Given the description of an element on the screen output the (x, y) to click on. 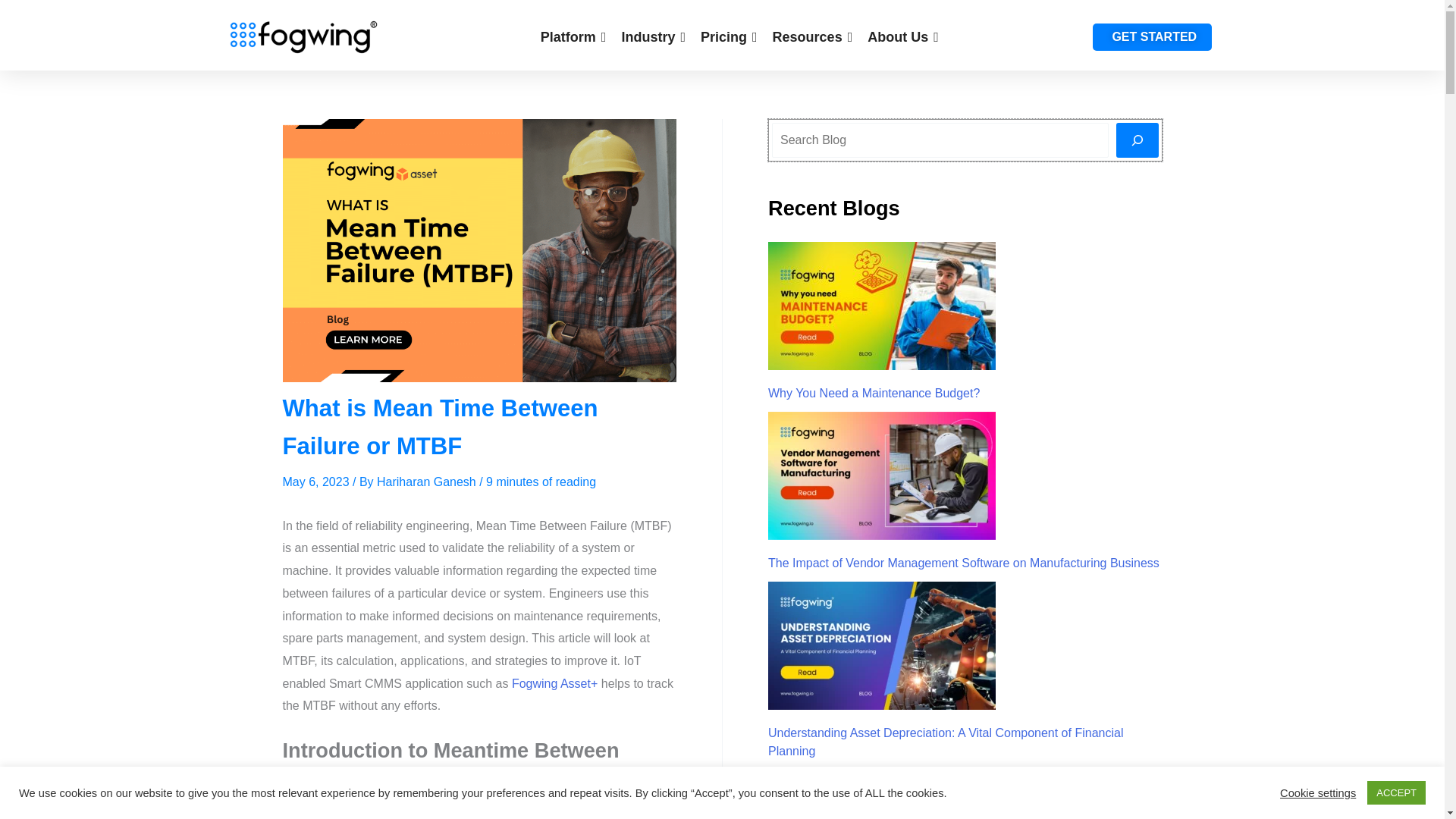
Industry (653, 36)
Resources (813, 36)
Pricing (728, 36)
View all posts by Hariharan Ganesh (428, 481)
Platform (573, 36)
